Given the description of an element on the screen output the (x, y) to click on. 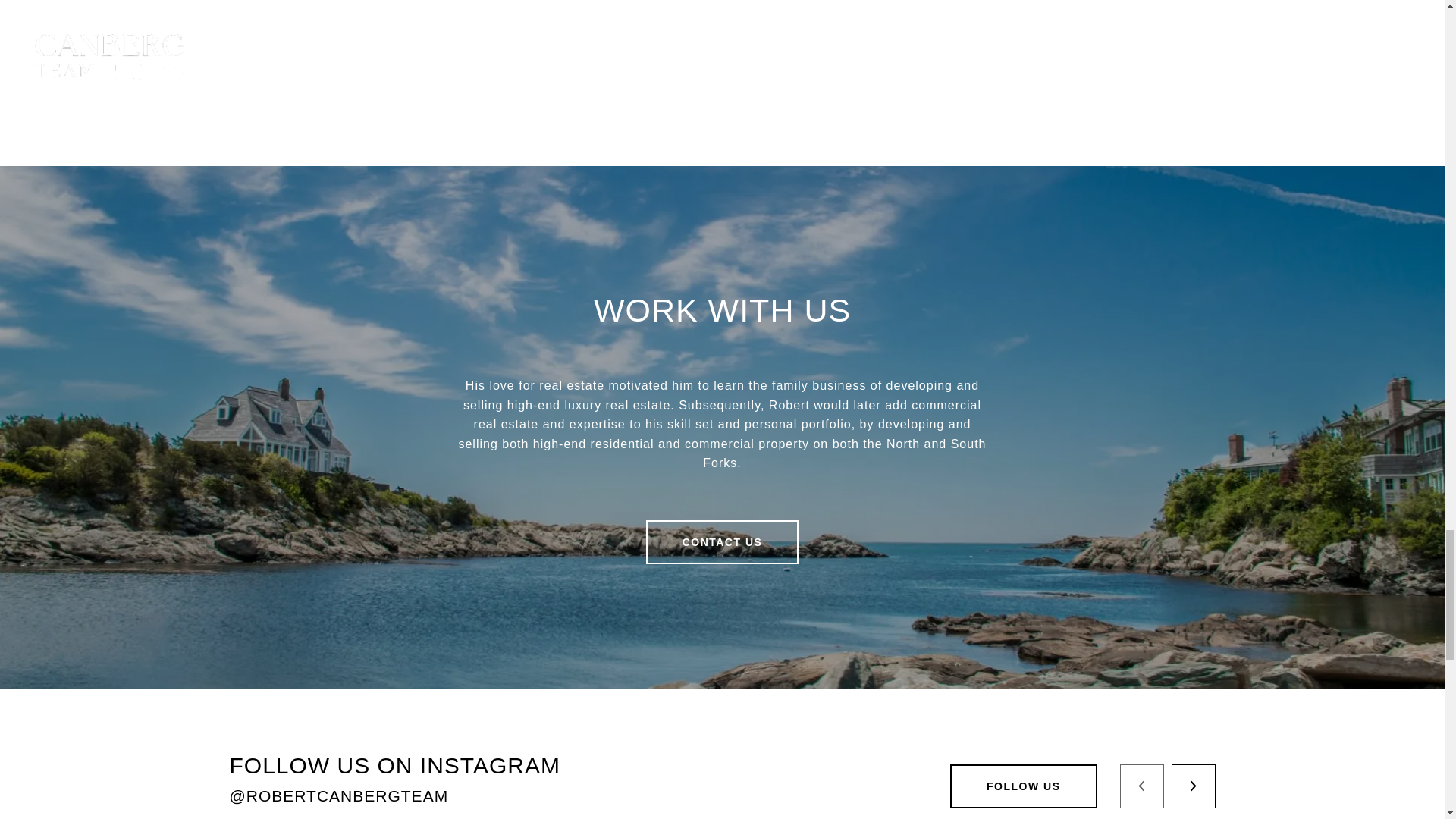
CONTACT US (722, 542)
FOLLOW US (1023, 786)
